Given the description of an element on the screen output the (x, y) to click on. 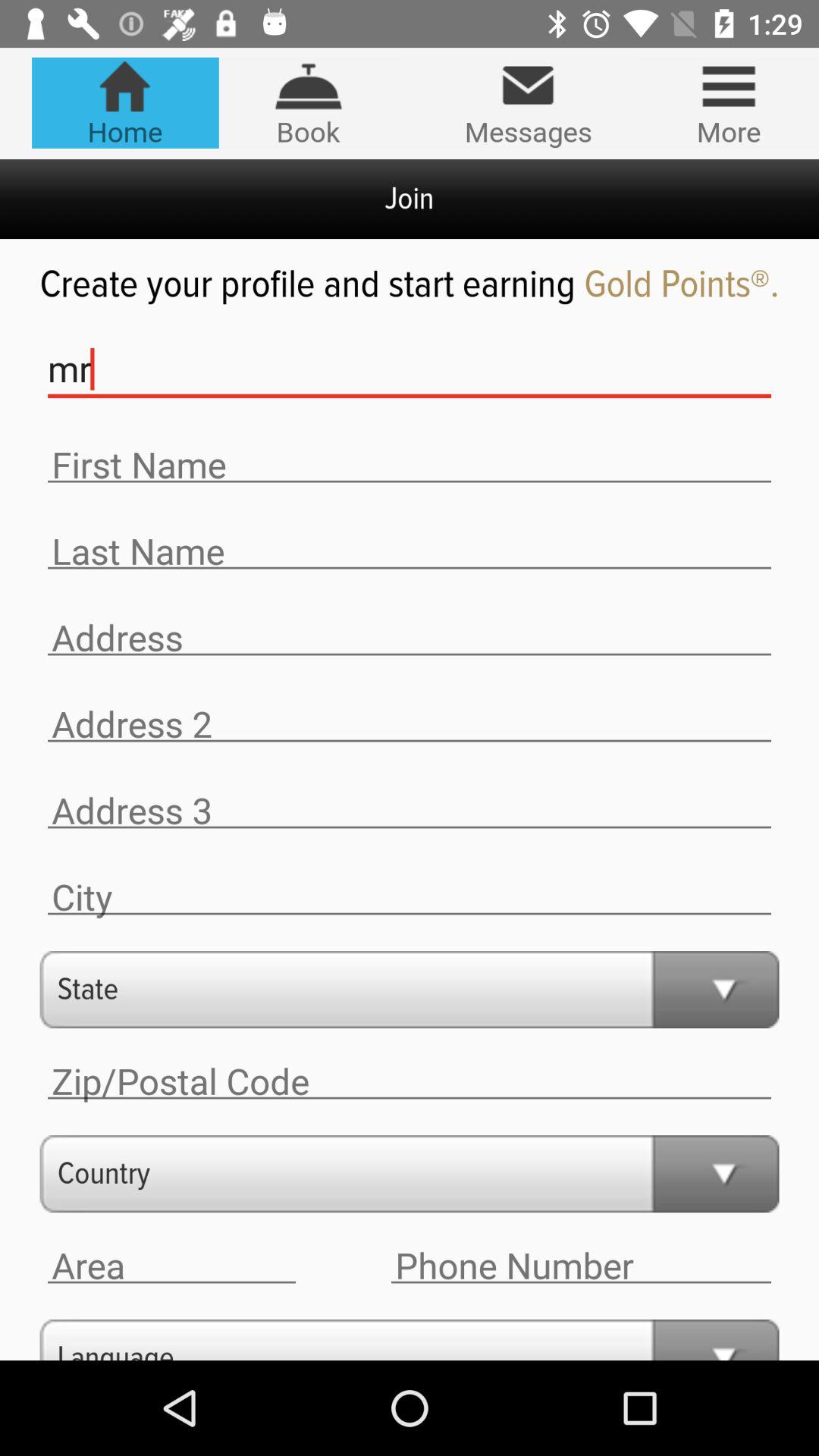
go to address (409, 811)
